Given the description of an element on the screen output the (x, y) to click on. 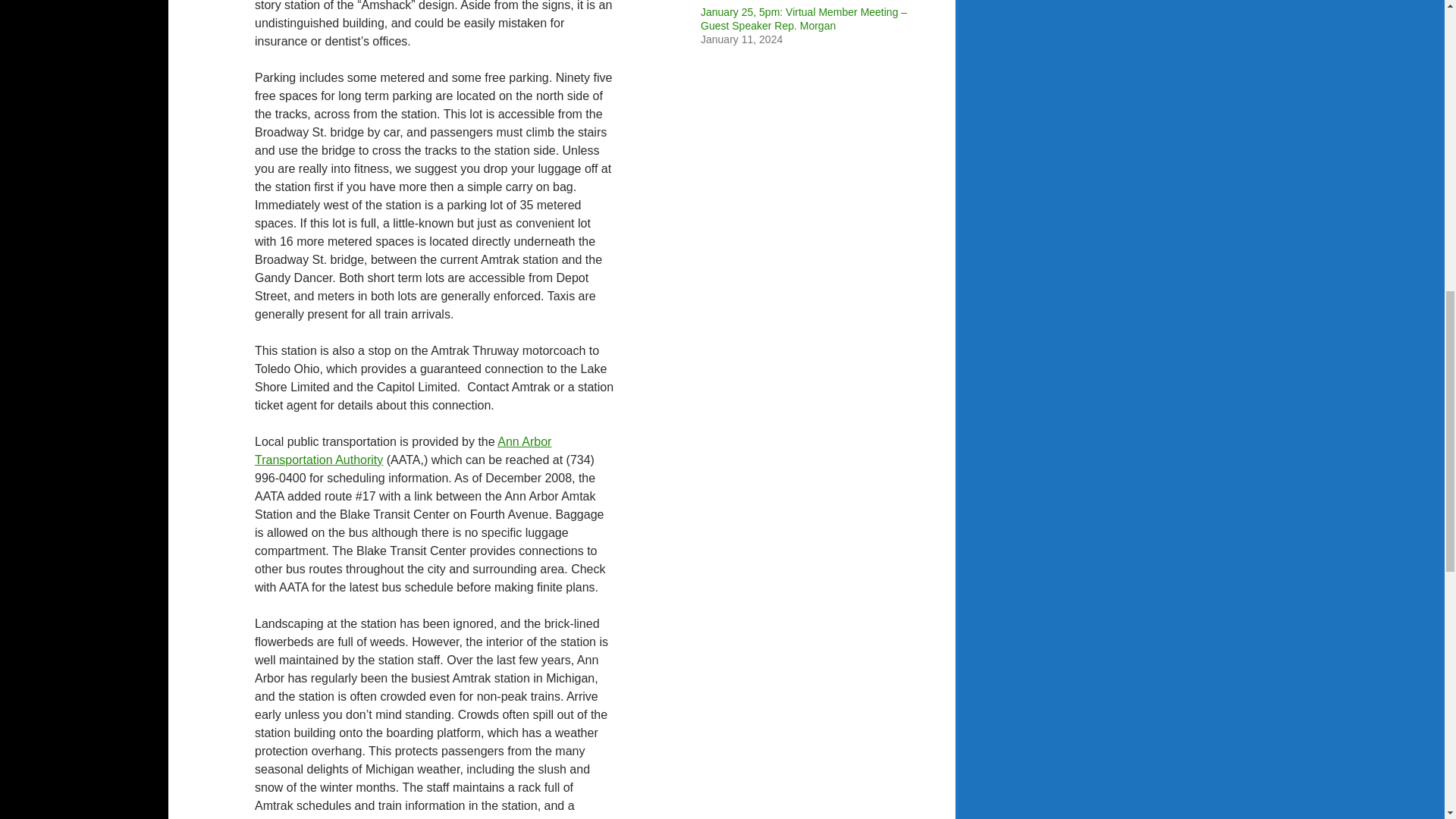
Ann Arbor Transportation Authority (402, 450)
